Given the description of an element on the screen output the (x, y) to click on. 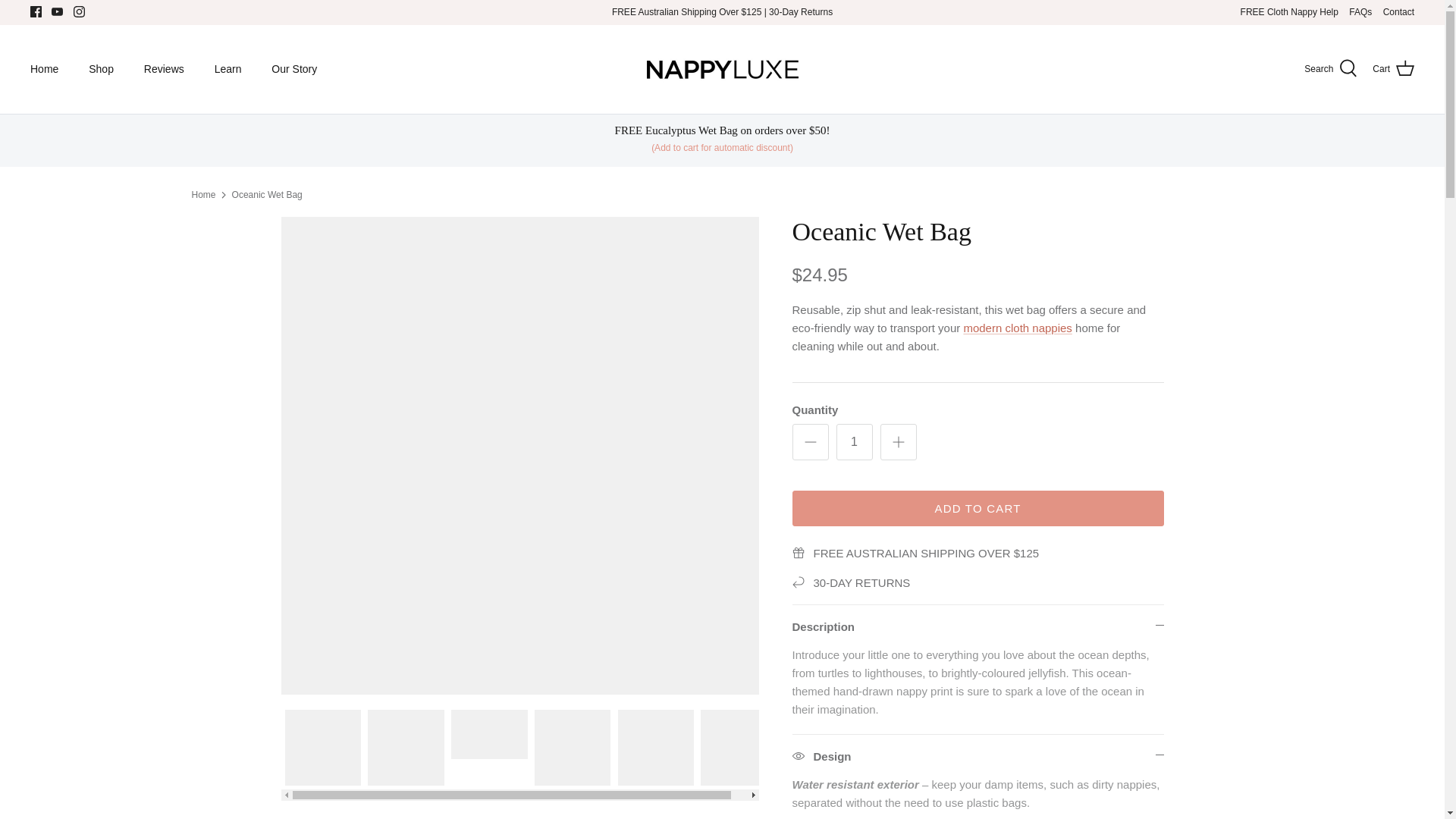
Plus (897, 442)
Instagram (79, 11)
Minus (809, 442)
Youtube (56, 11)
Facebook (36, 11)
Our Story (293, 69)
Learn (228, 69)
Cart (1393, 68)
NappyLuxe (721, 69)
Youtube (56, 11)
